Given the description of an element on the screen output the (x, y) to click on. 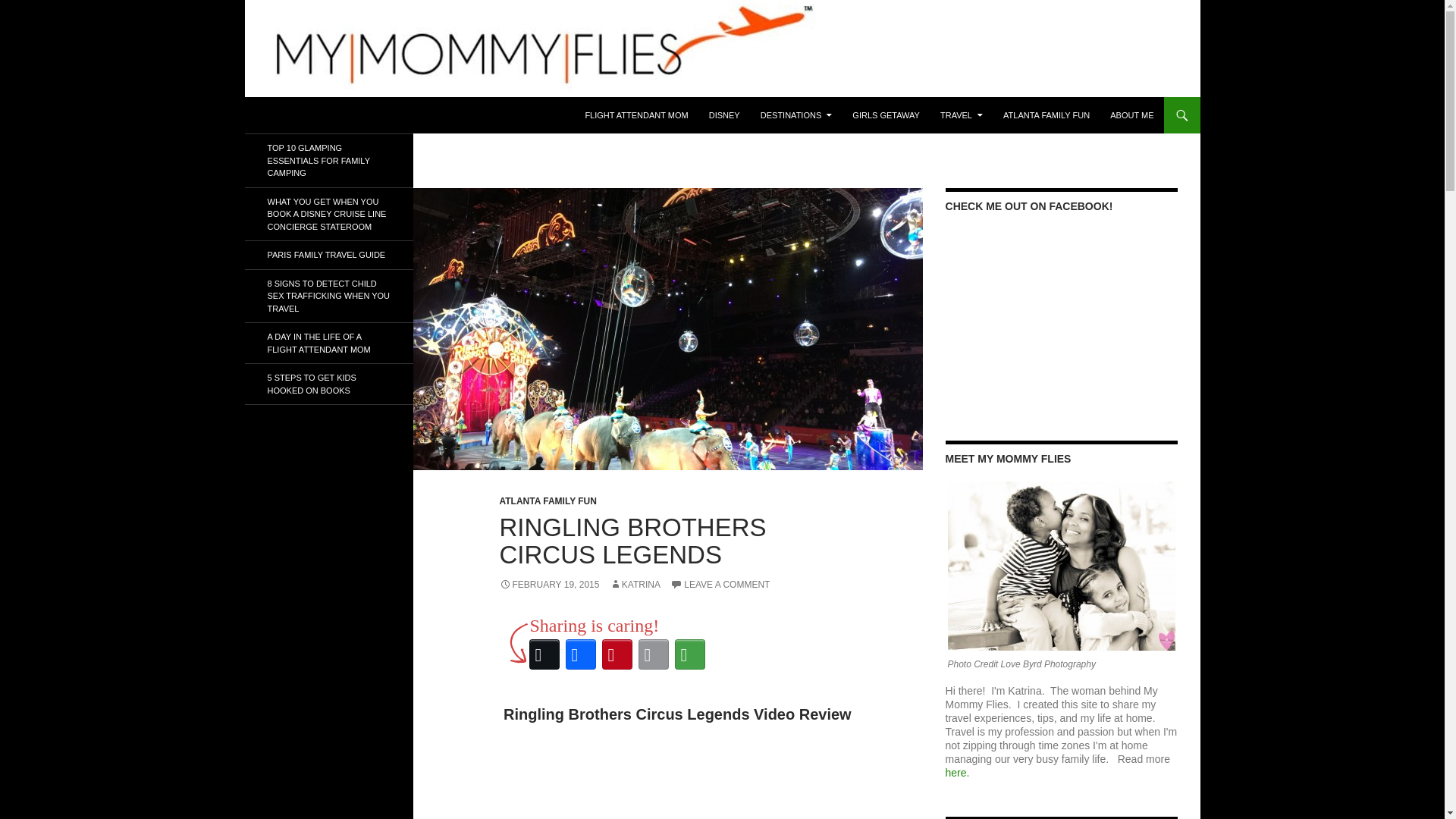
Pinterest (616, 654)
About Me (956, 772)
DESTINATIONS (796, 115)
GIRLS GETAWAY (885, 115)
ABOUT ME (1130, 115)
TRAVEL (961, 115)
ATLANTA FAMILY FUN (1046, 115)
DISNEY (724, 115)
FEBRUARY 19, 2015 (548, 584)
LEAVE A COMMENT (719, 584)
KATRINA (635, 584)
ATLANTA FAMILY FUN (547, 501)
About Me (1060, 565)
